Given the description of an element on the screen output the (x, y) to click on. 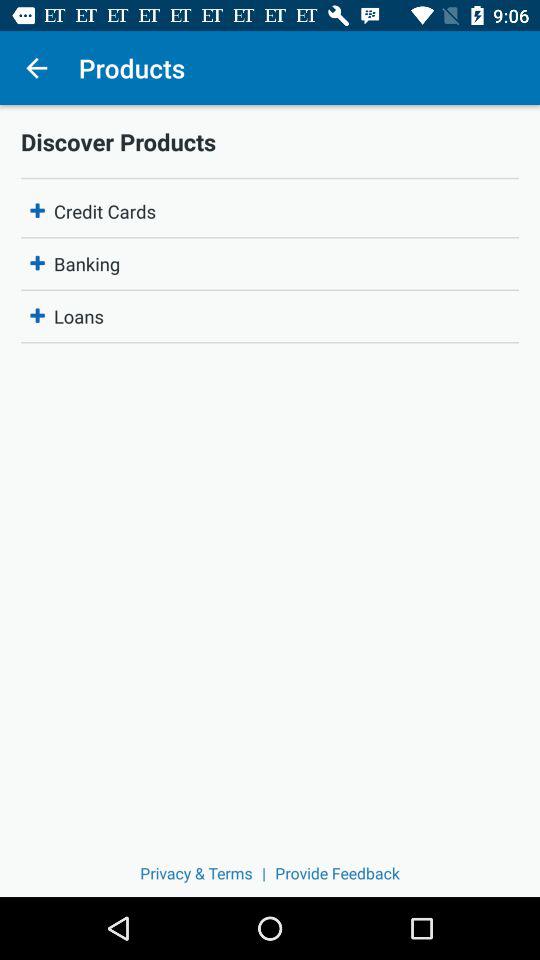
tap icon to the left of the products icon (36, 68)
